Given the description of an element on the screen output the (x, y) to click on. 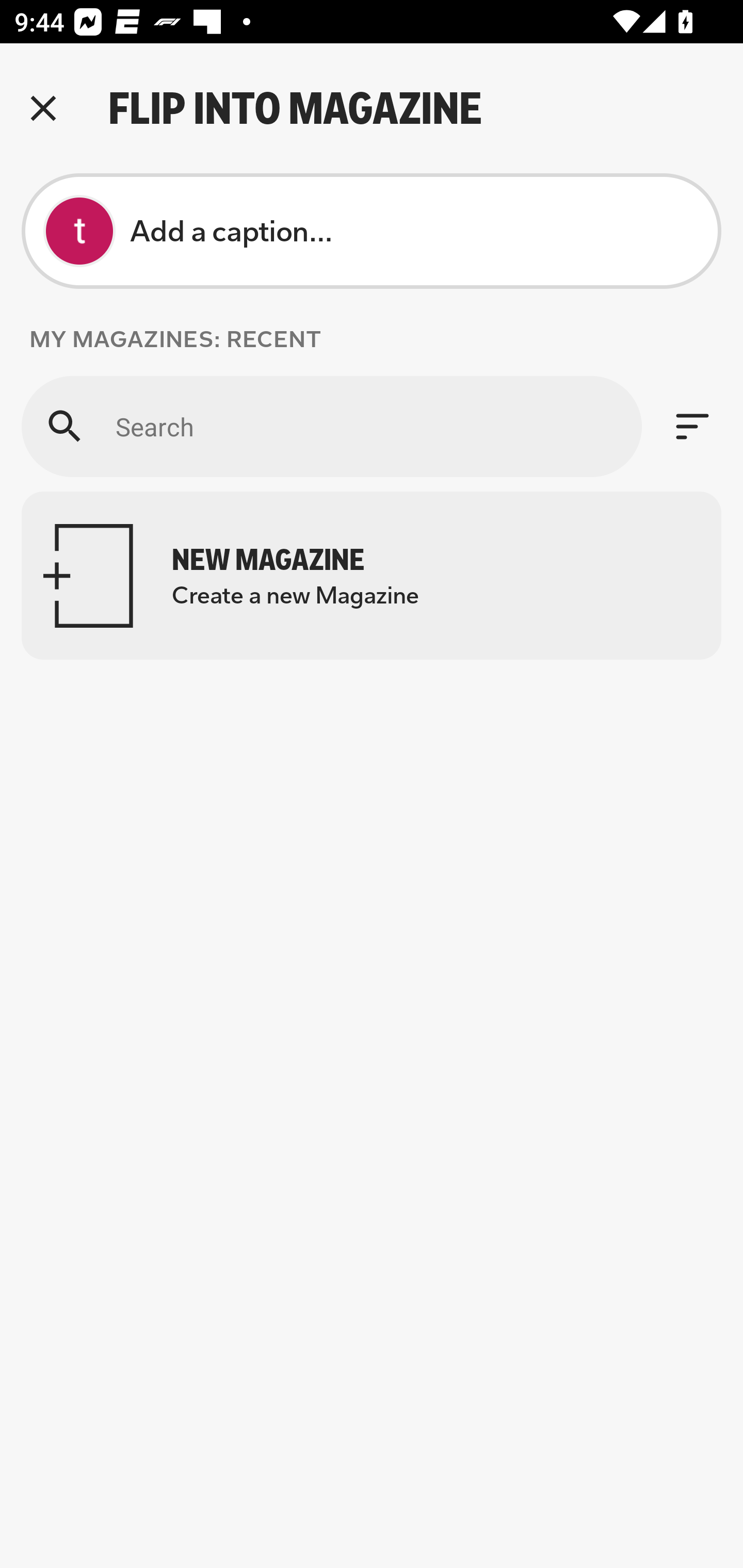
test appium Add a caption… (371, 231)
Search (331, 426)
NEW MAGAZINE Create a new Magazine (371, 575)
